Given the description of an element on the screen output the (x, y) to click on. 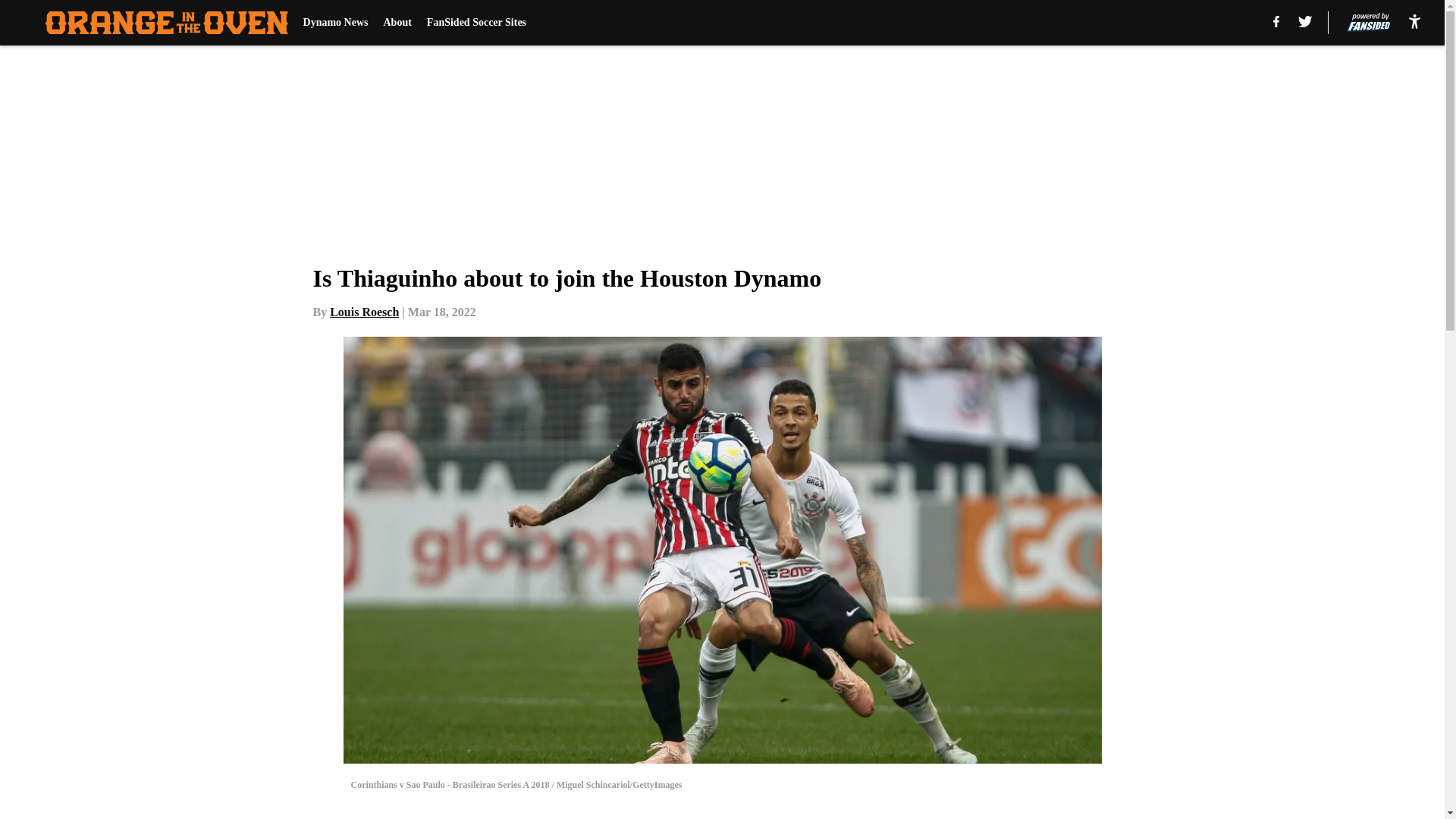
FanSided Soccer Sites (475, 22)
Dynamo News (335, 22)
About (398, 22)
Louis Roesch (364, 311)
